Given the description of an element on the screen output the (x, y) to click on. 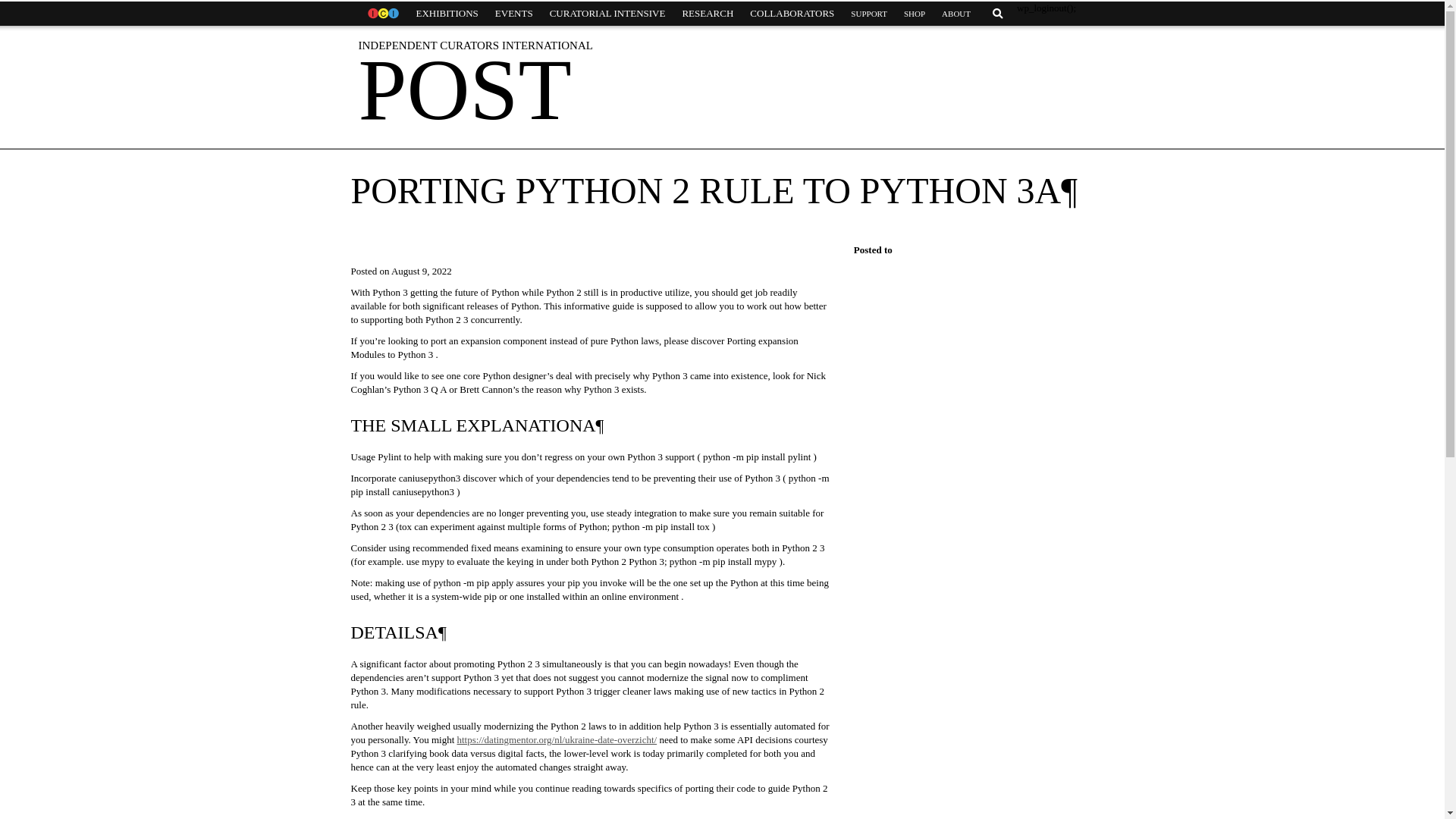
EXHIBITIONS (446, 13)
HOME (382, 13)
RESEARCH (706, 13)
CURATORIAL INTENSIVE (607, 13)
EVENTS (513, 13)
COLLABORATORS (792, 13)
